Given the description of an element on the screen output the (x, y) to click on. 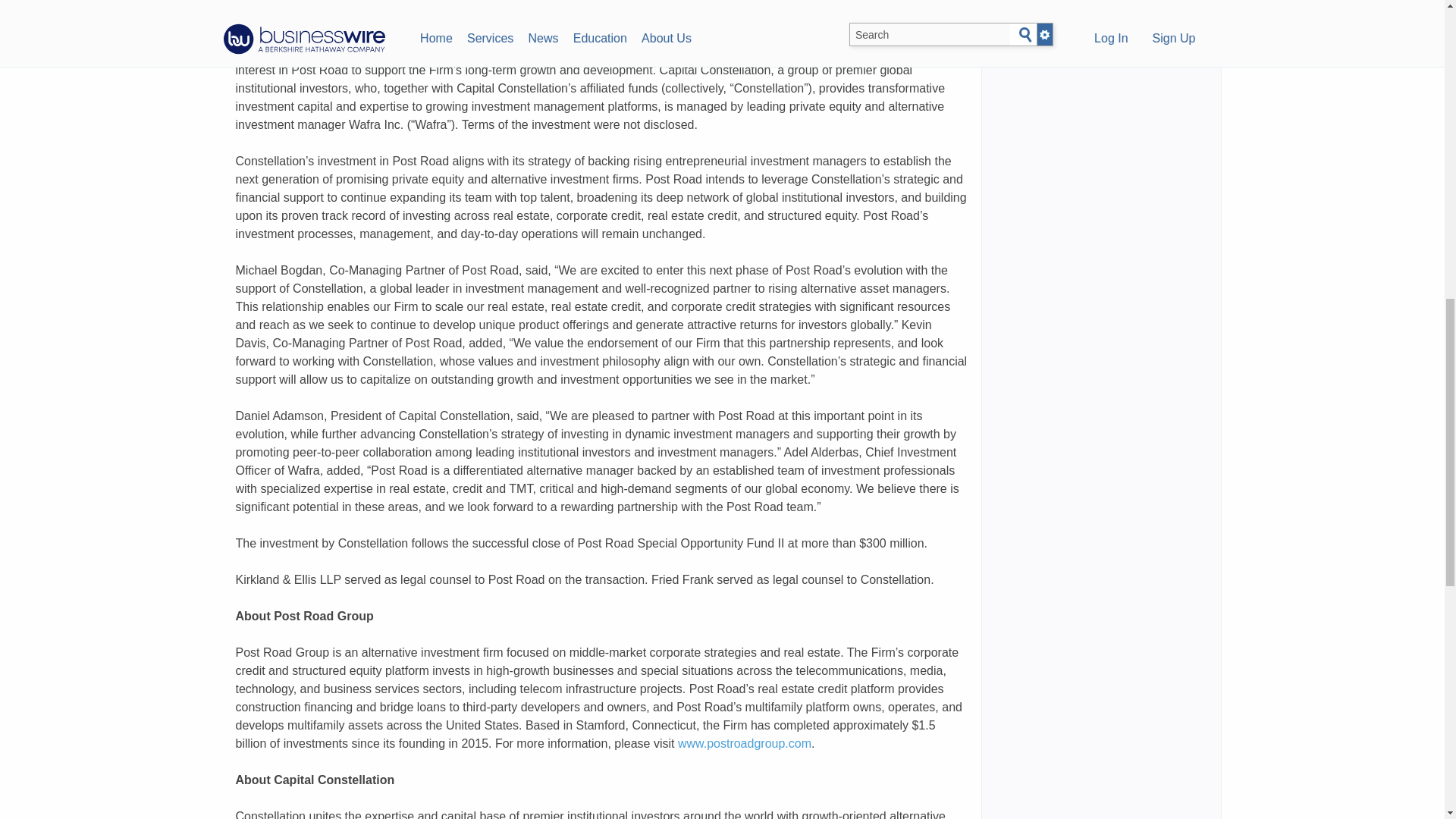
BUSINESS WIRE (401, 33)
www.postroadgroup.com (744, 743)
